Given the description of an element on the screen output the (x, y) to click on. 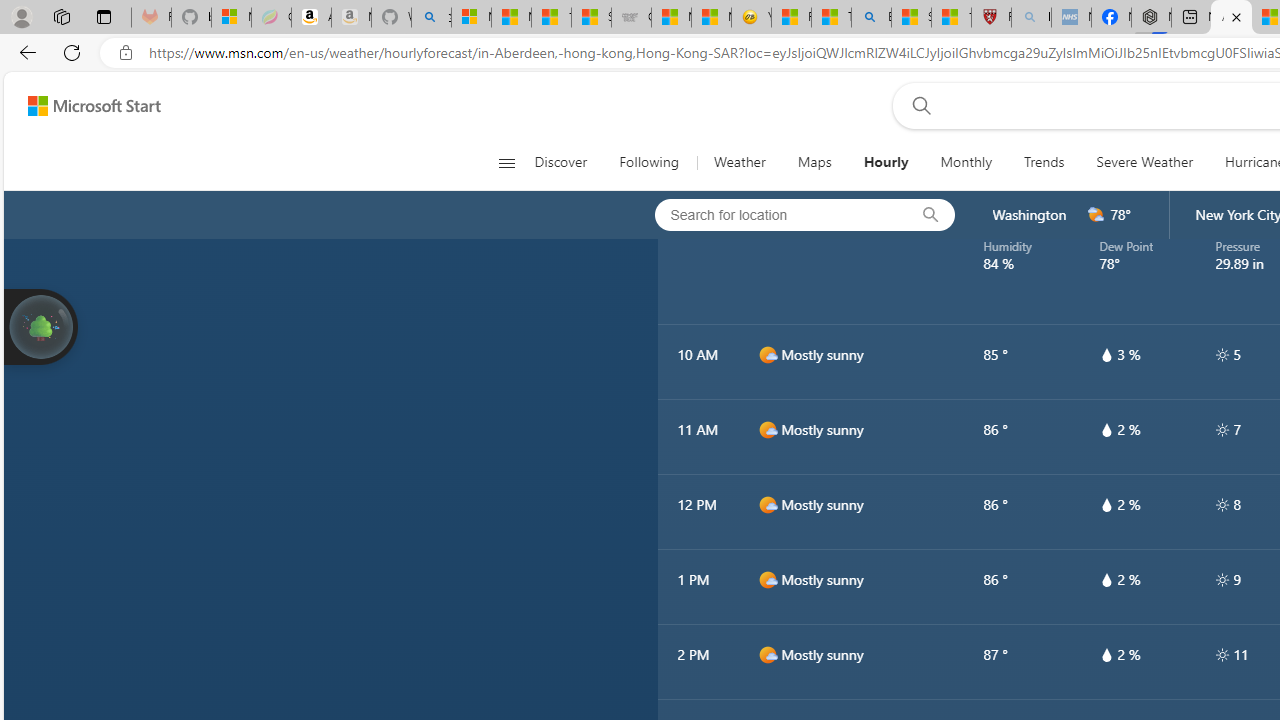
Search for location (775, 214)
Severe Weather (1144, 162)
